Given the description of an element on the screen output the (x, y) to click on. 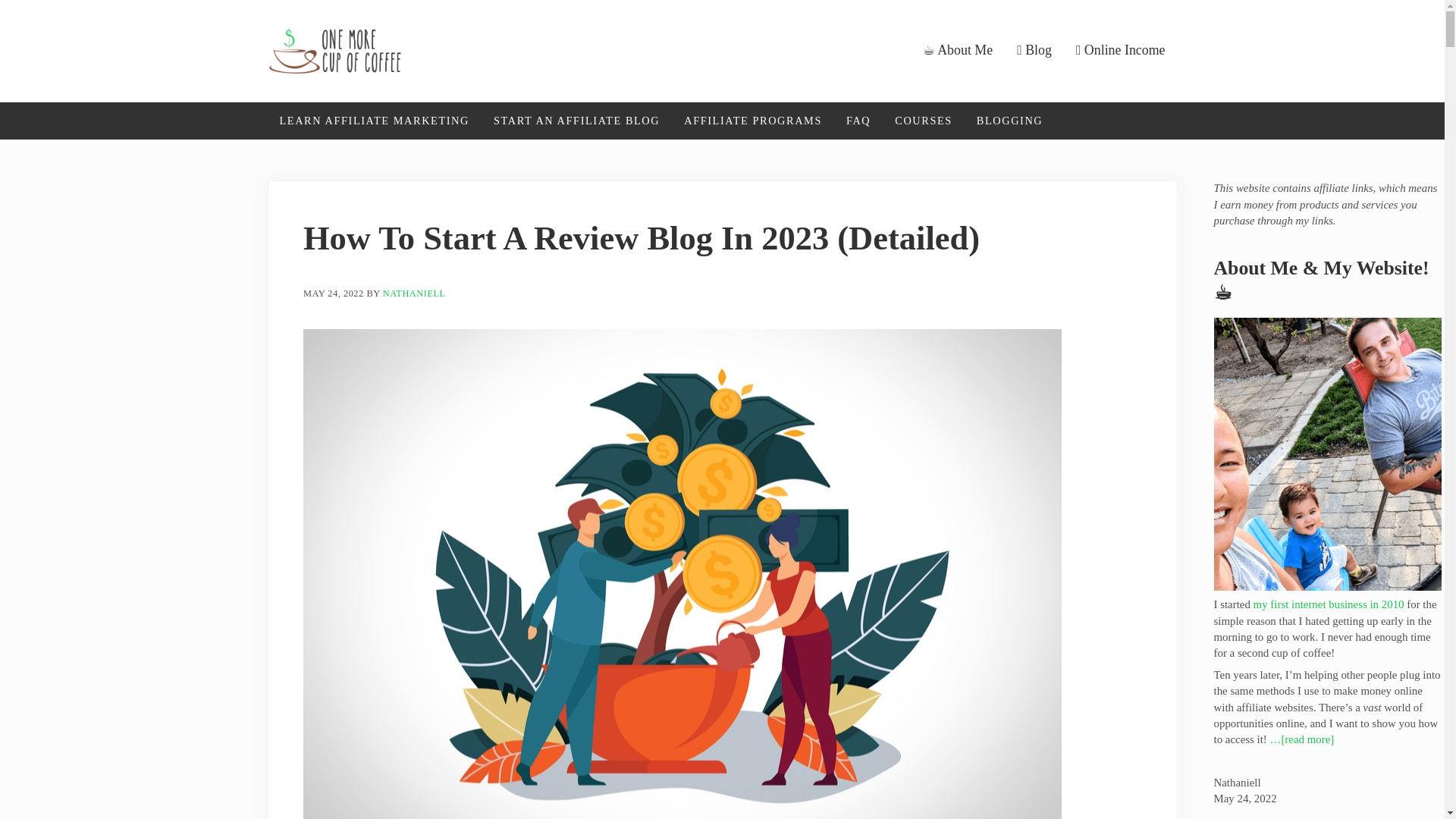
BLOGGING (1008, 120)
AFFILIATE PROGRAMS (752, 120)
FAQ (858, 120)
LEARN AFFILIATE MARKETING (373, 120)
NATHANIELL (413, 293)
One More Cup of Coffee Logo NEW (334, 50)
COURSES (922, 120)
START AN AFFILIATE BLOG (576, 120)
